Given the description of an element on the screen output the (x, y) to click on. 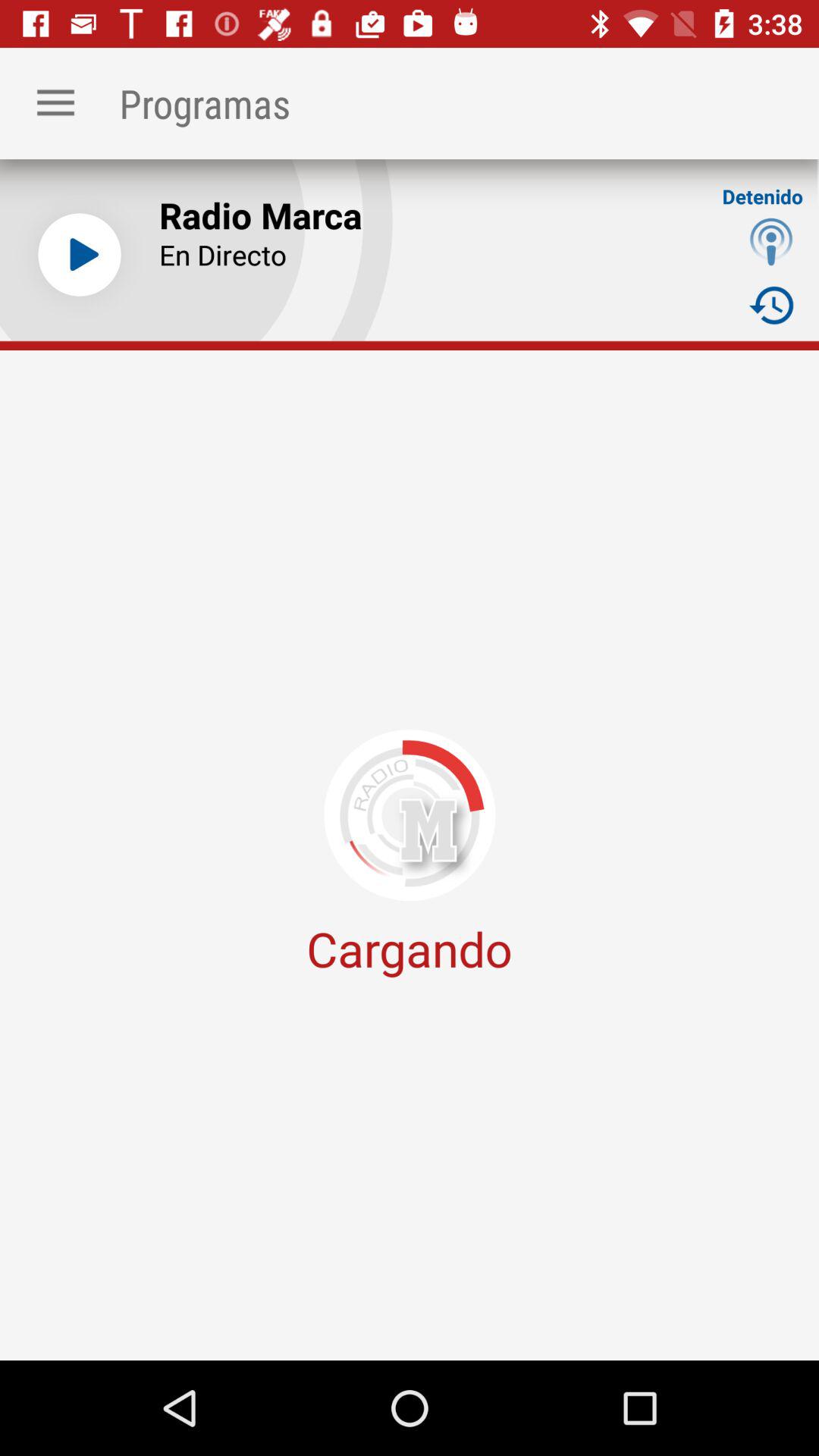
select the item to the right of the en directo item (771, 305)
